Given the description of an element on the screen output the (x, y) to click on. 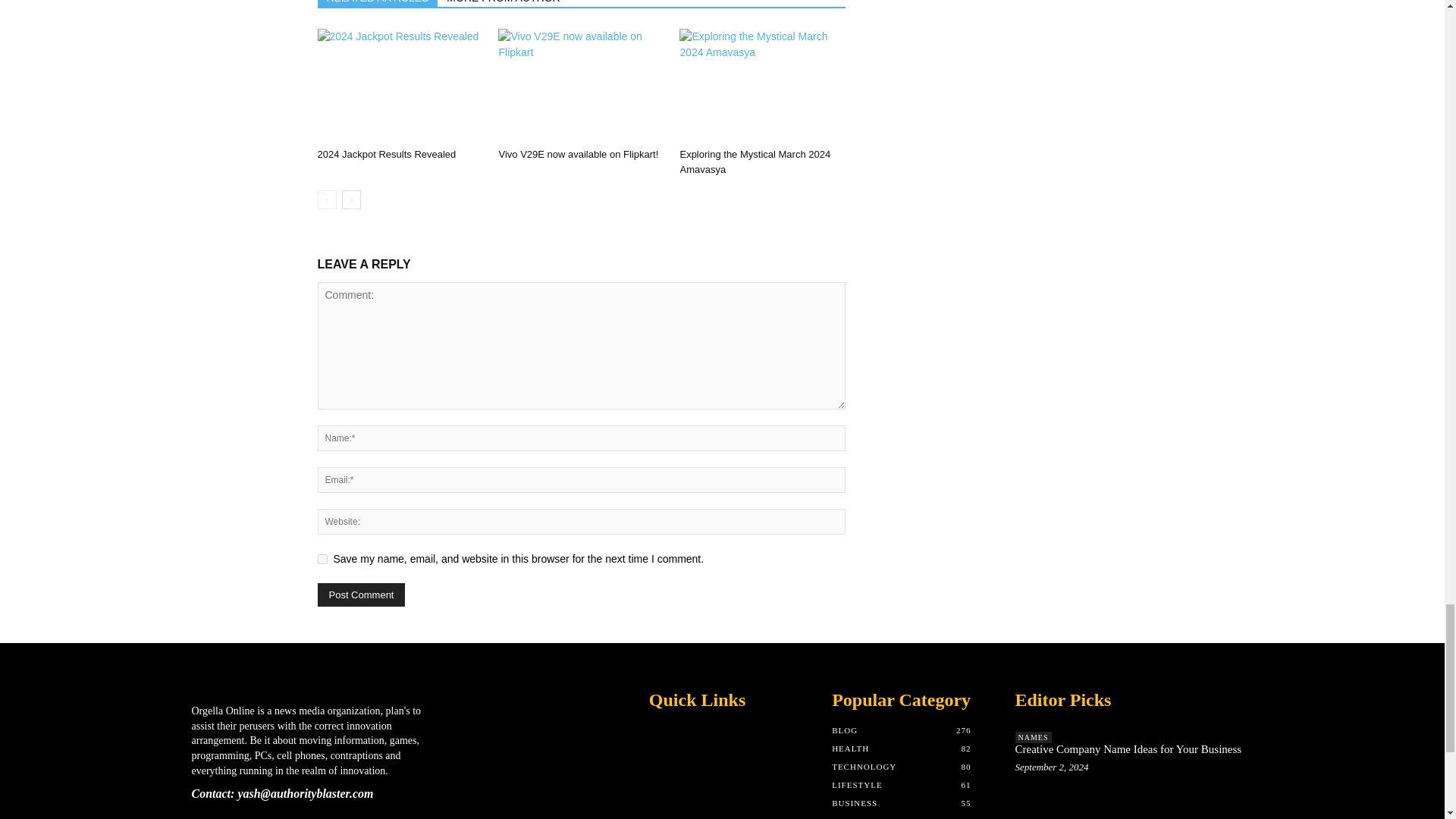
yes (321, 559)
Vivo V29E now available on Flipkart! (577, 153)
2024 Jackpot Results Revealed (399, 85)
Vivo V29E now available on Flipkart! (580, 85)
Post Comment (360, 594)
2024 Jackpot Results Revealed (386, 153)
